Given the description of an element on the screen output the (x, y) to click on. 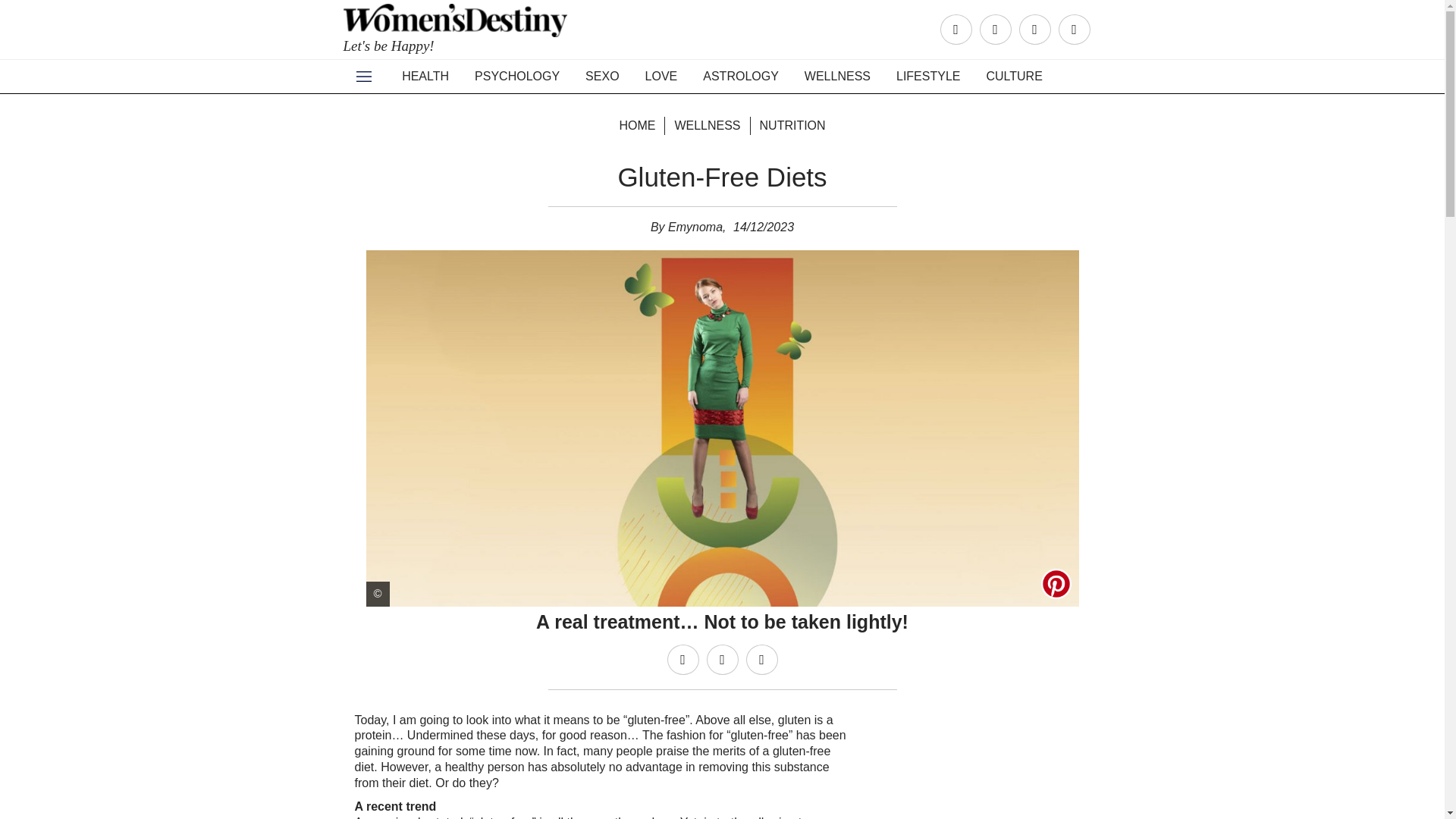
SEXO (601, 76)
HEALTH (424, 76)
PSYCHOLOGY (516, 76)
HEALTH (424, 76)
Let's be Happy! (456, 34)
PSYCHOLOGY (516, 76)
LOVE (661, 76)
SEXO (601, 76)
ASTROLOGY (740, 76)
